Given the description of an element on the screen output the (x, y) to click on. 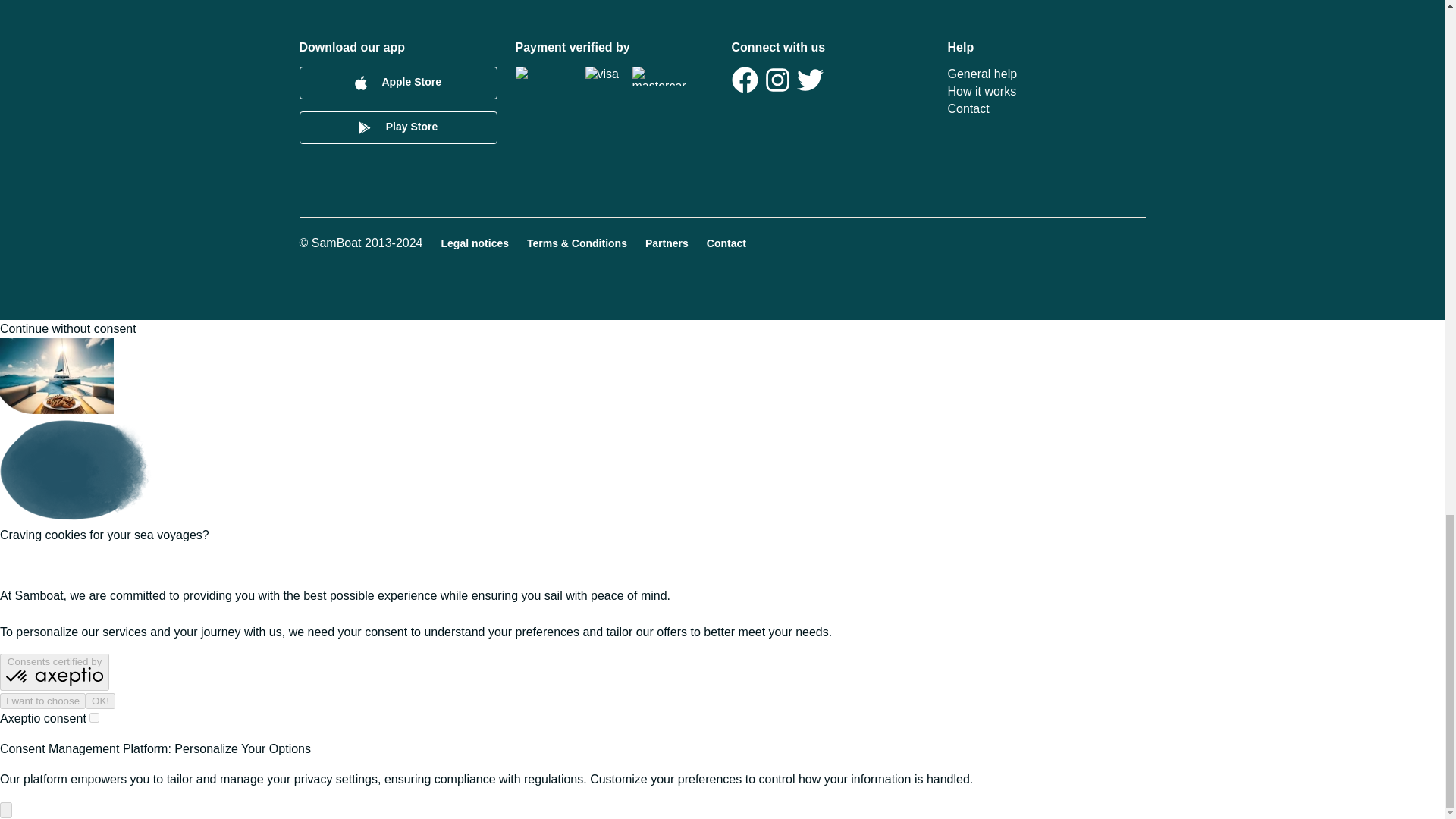
Apple Store (397, 82)
Play Store (397, 127)
